Given the description of an element on the screen output the (x, y) to click on. 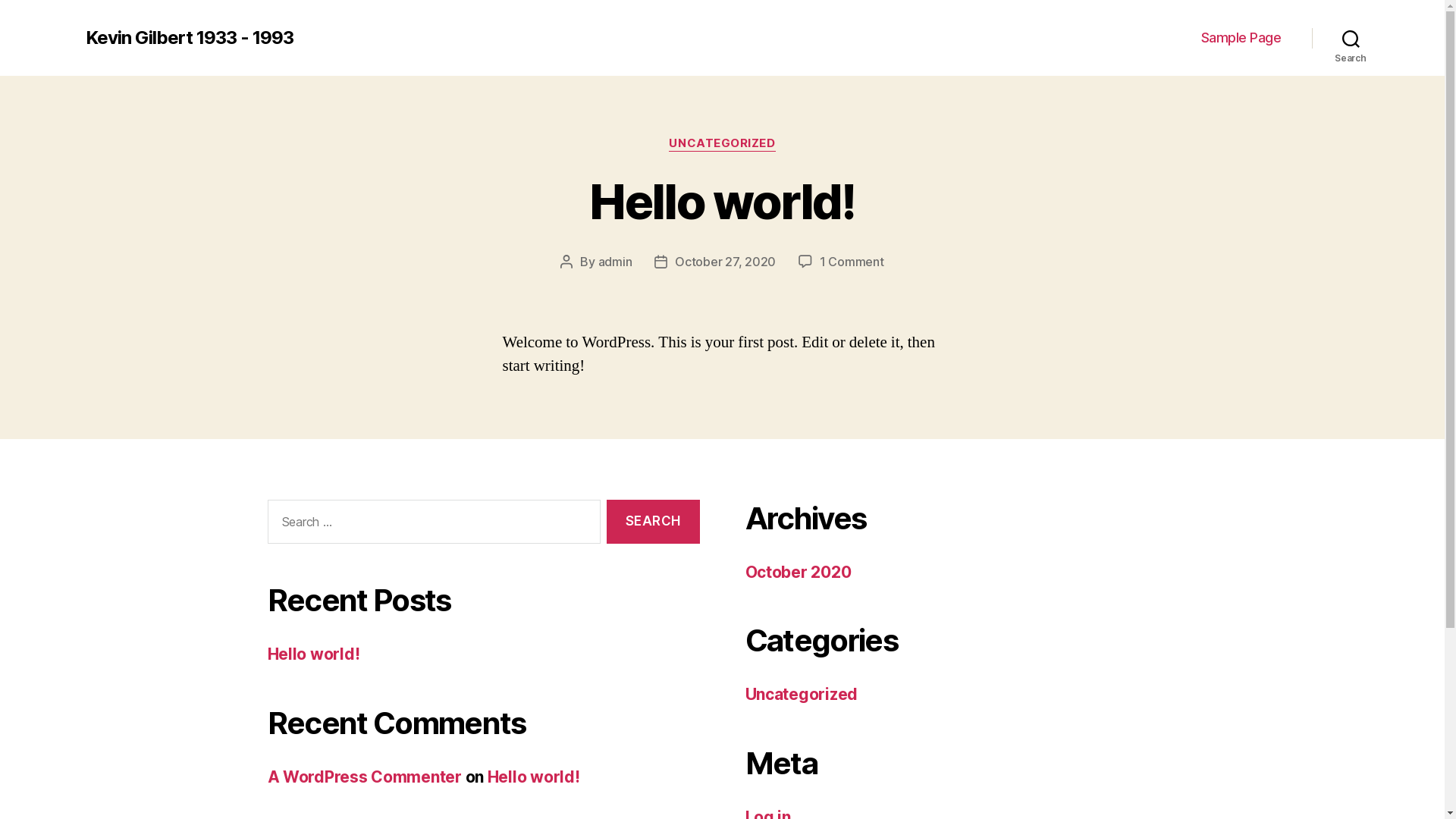
1 Comment
on Hello world! Element type: text (851, 261)
Search Element type: text (652, 521)
Hello world! Element type: text (312, 653)
Search Element type: text (1350, 37)
Sample Page Element type: text (1241, 37)
Hello world! Element type: text (533, 776)
Hello world! Element type: text (721, 201)
October 27, 2020 Element type: text (724, 261)
UNCATEGORIZED Element type: text (721, 143)
Kevin Gilbert 1933 - 1993 Element type: text (188, 37)
admin Element type: text (615, 261)
Uncategorized Element type: text (800, 693)
October 2020 Element type: text (797, 571)
A WordPress Commenter Element type: text (363, 776)
